Given the description of an element on the screen output the (x, y) to click on. 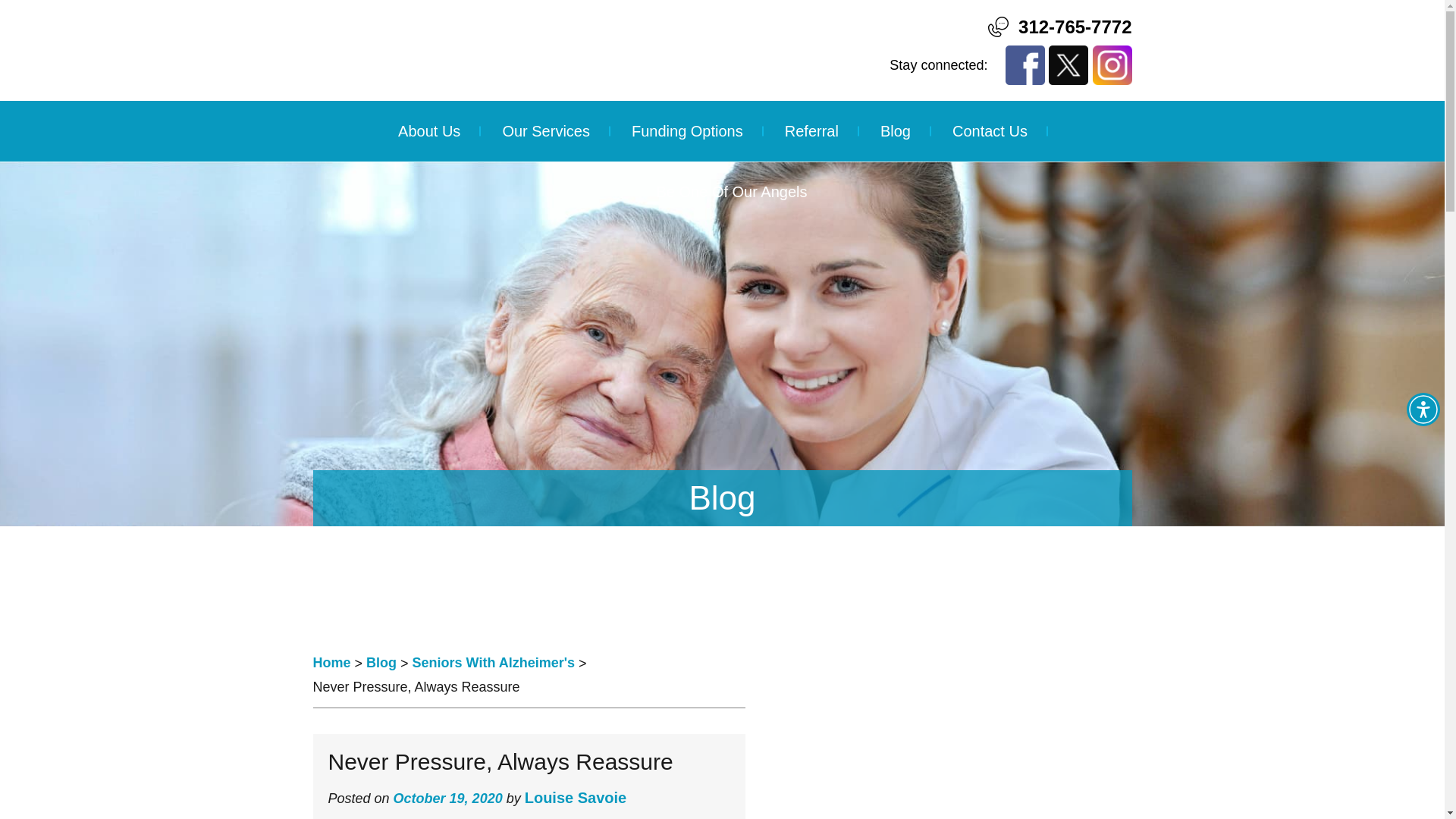
Go to Blog. (381, 663)
Contact Us (989, 130)
Referral (811, 130)
Blog (381, 663)
Seniors With Alzheimer's (493, 663)
Louise Savoie (575, 797)
312-765-7772 (1074, 26)
October 19, 2020 (447, 798)
Home (331, 663)
View all posts by Louise Savoie (575, 797)
Go to Home. (331, 663)
1:20 am (447, 798)
Blog (895, 130)
Our Services (545, 130)
Be One Of Our Angels (721, 191)
